Given the description of an element on the screen output the (x, y) to click on. 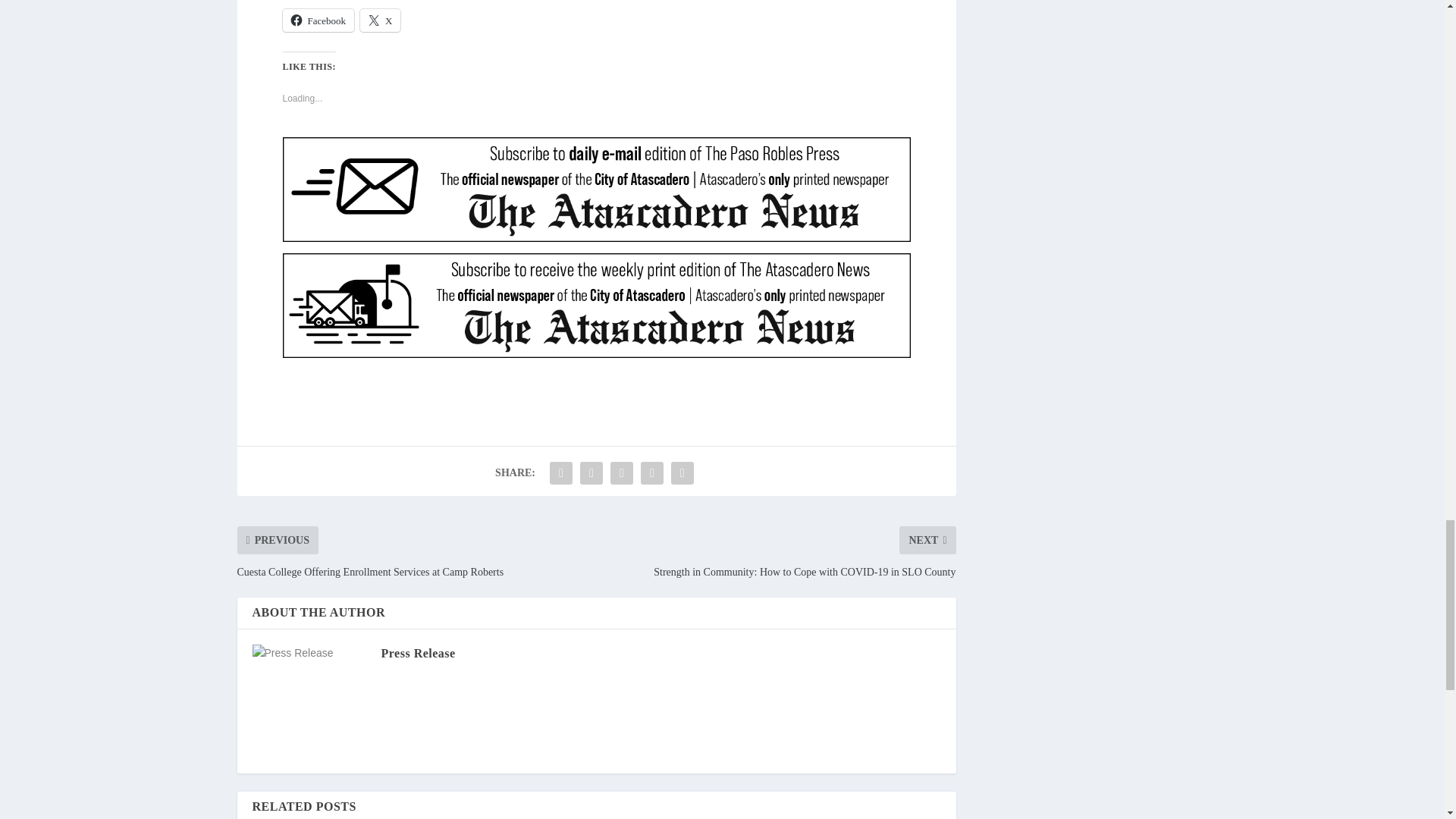
Click to share on Facebook (317, 20)
Press Release (417, 653)
X (379, 20)
View all posts by Press Release (417, 653)
Click to share on X (379, 20)
Facebook (317, 20)
